Given the description of an element on the screen output the (x, y) to click on. 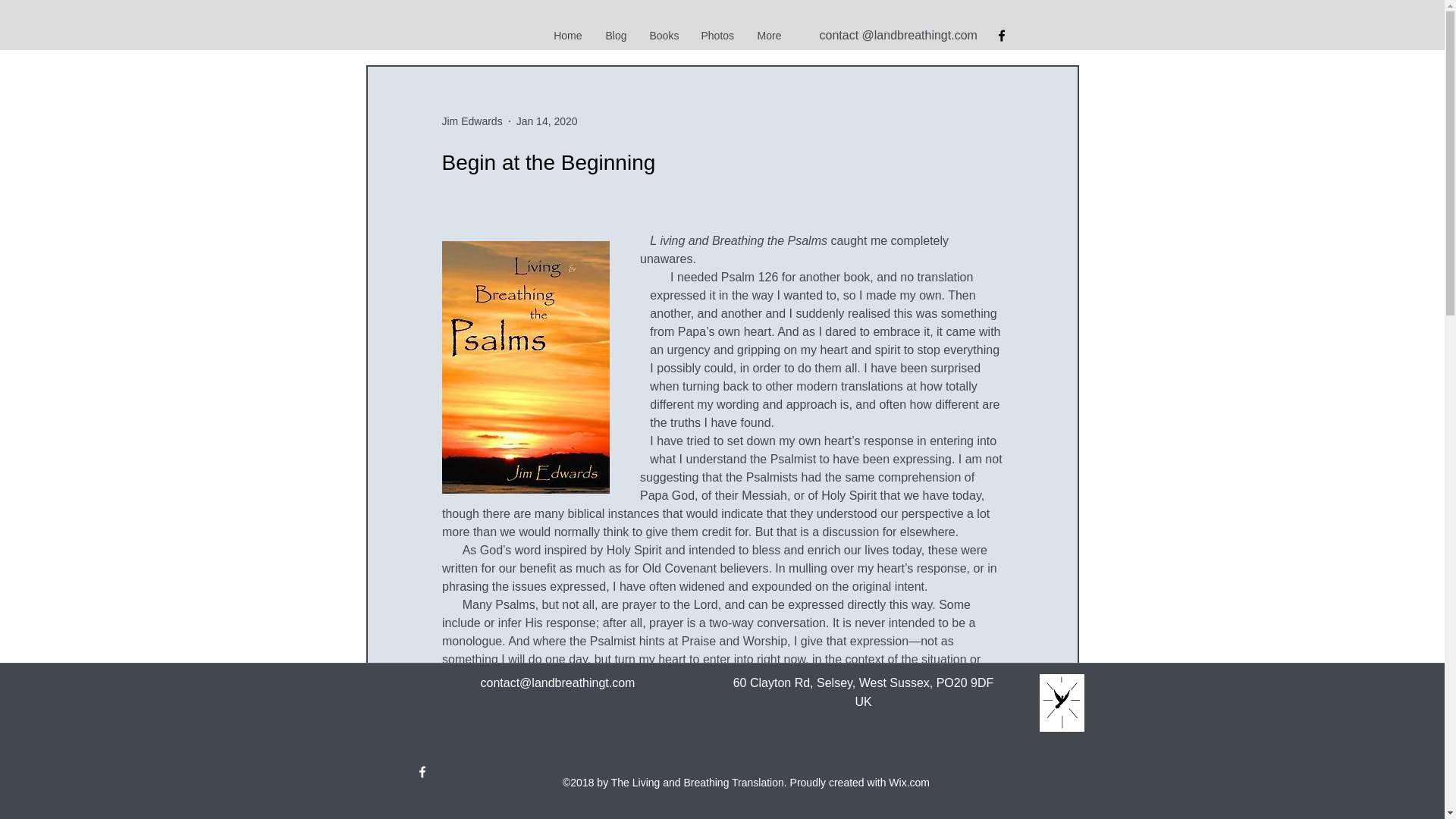
Jim Edwards (471, 121)
Home (566, 35)
Jan 14, 2020 (547, 121)
Blog (614, 35)
Photos (717, 35)
Books (664, 35)
